Given the description of an element on the screen output the (x, y) to click on. 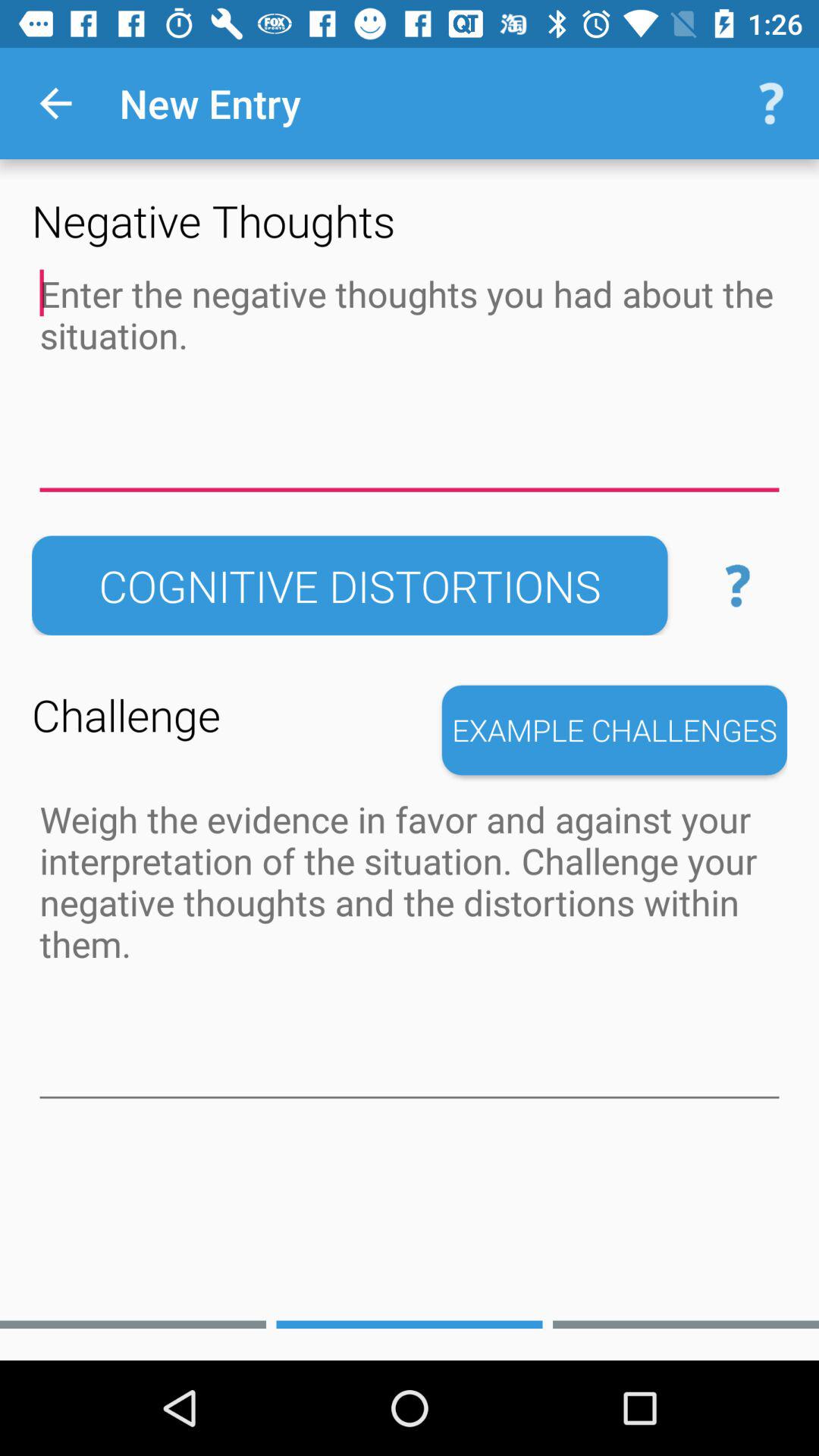
turn on the icon at the top right corner (771, 103)
